Given the description of an element on the screen output the (x, y) to click on. 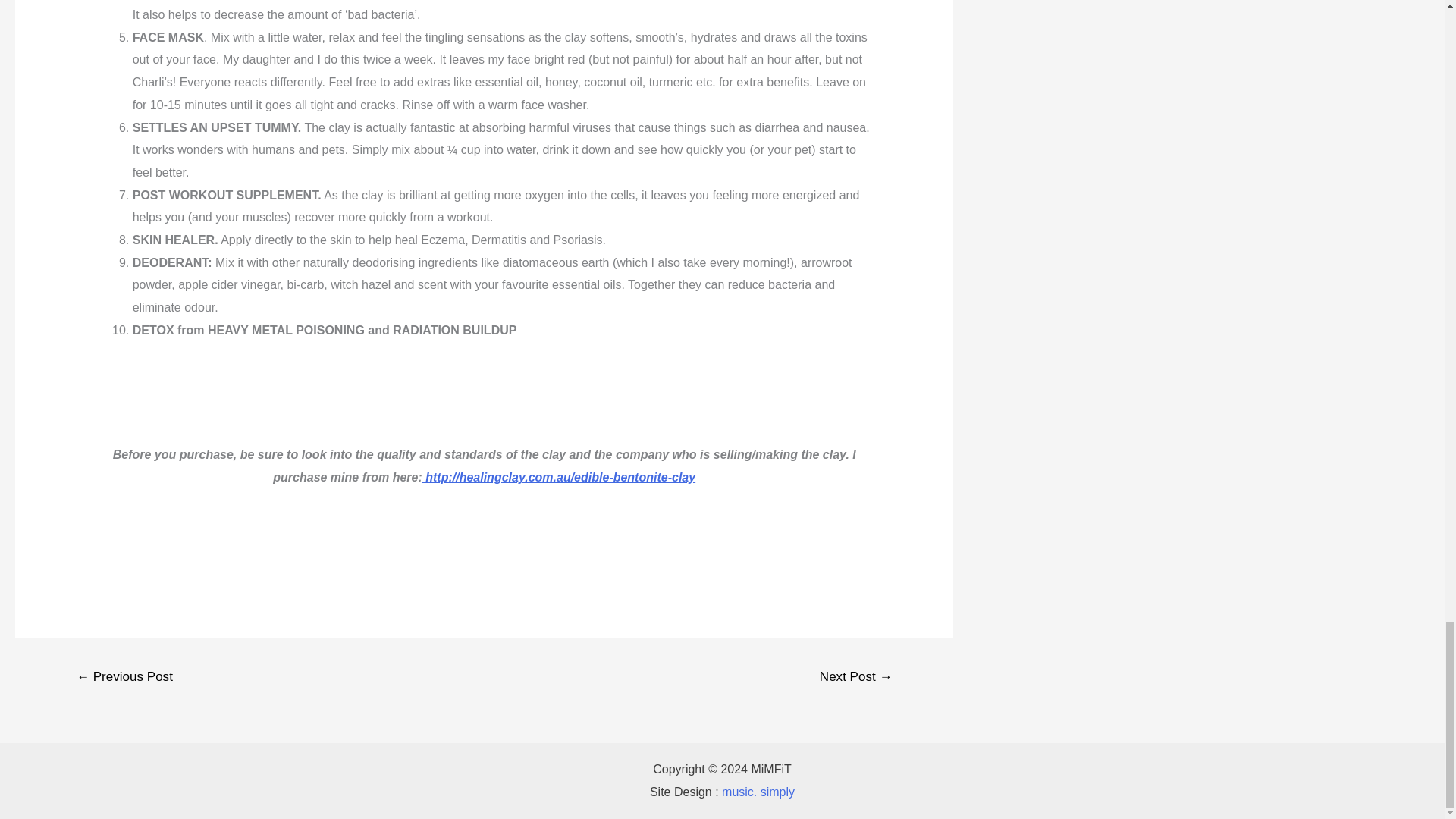
music. simply (758, 791)
